Given the description of an element on the screen output the (x, y) to click on. 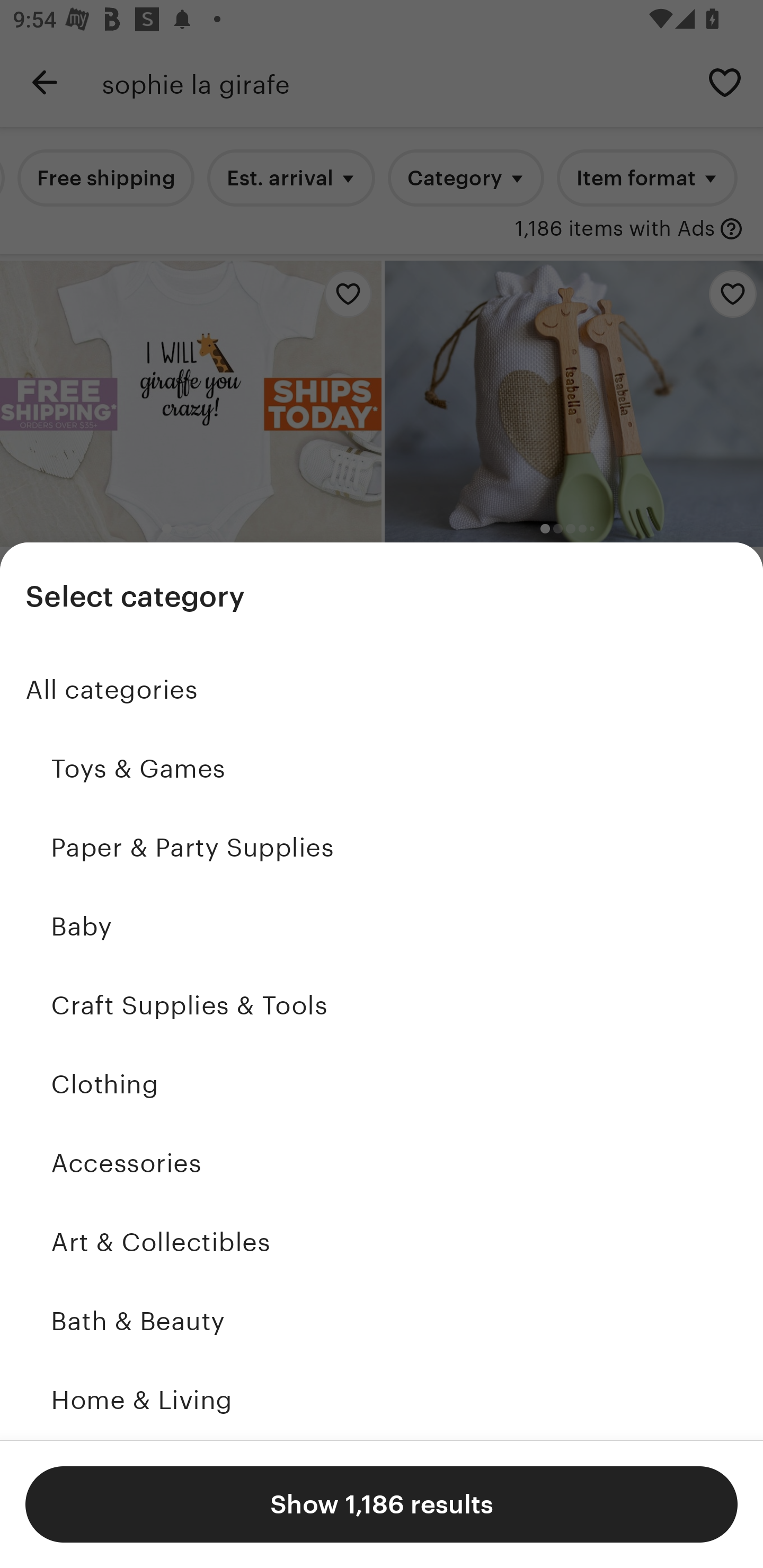
All categories (381, 689)
Toys & Games (381, 769)
Paper & Party Supplies (381, 848)
Baby (381, 926)
Craft Supplies & Tools (381, 1005)
Clothing (381, 1084)
Accessories (381, 1163)
Art & Collectibles (381, 1242)
Bath & Beauty (381, 1321)
Home & Living (381, 1400)
Show 1,186 results (381, 1504)
